Given the description of an element on the screen output the (x, y) to click on. 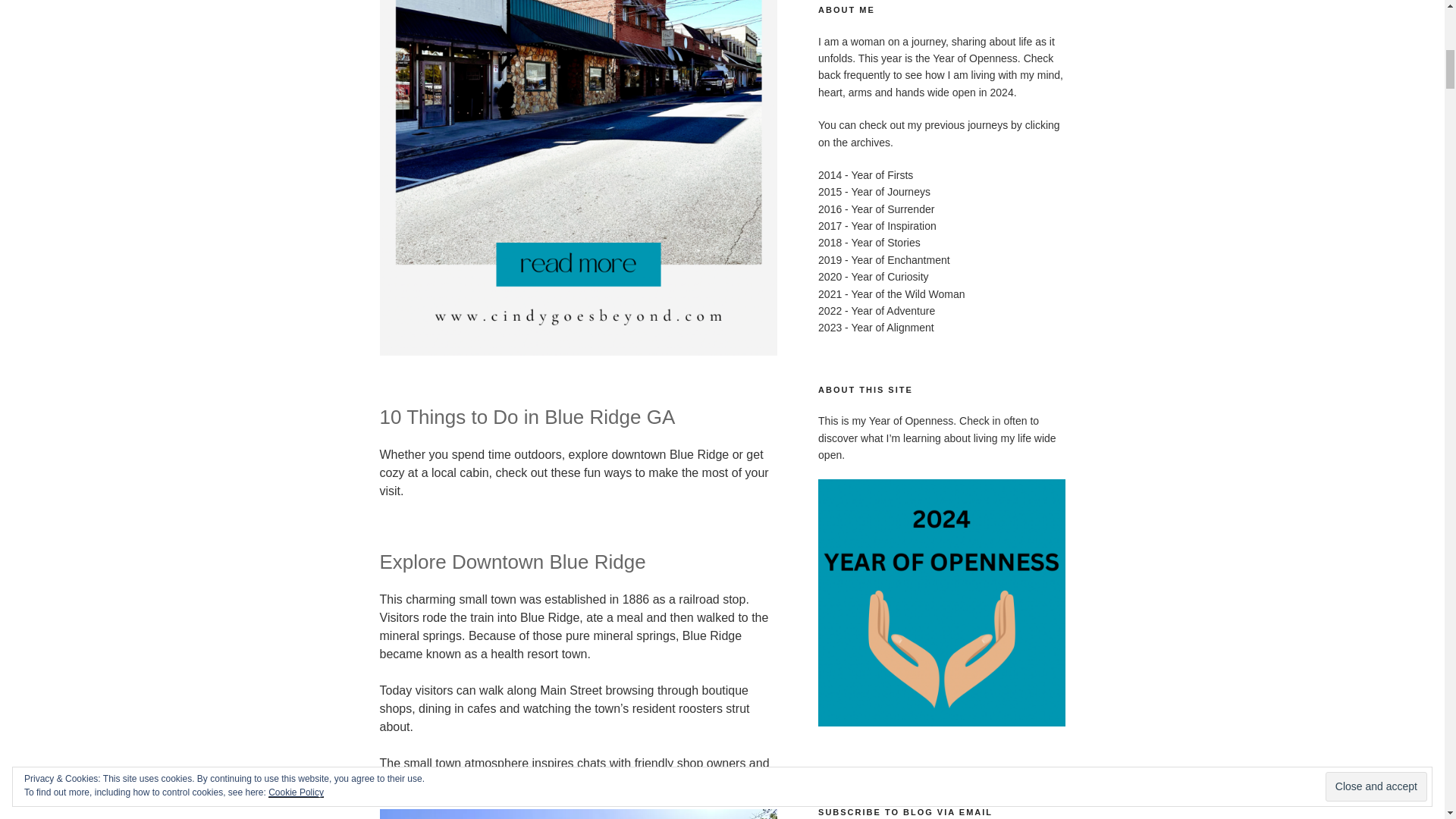
HERE (740, 780)
